Given the description of an element on the screen output the (x, y) to click on. 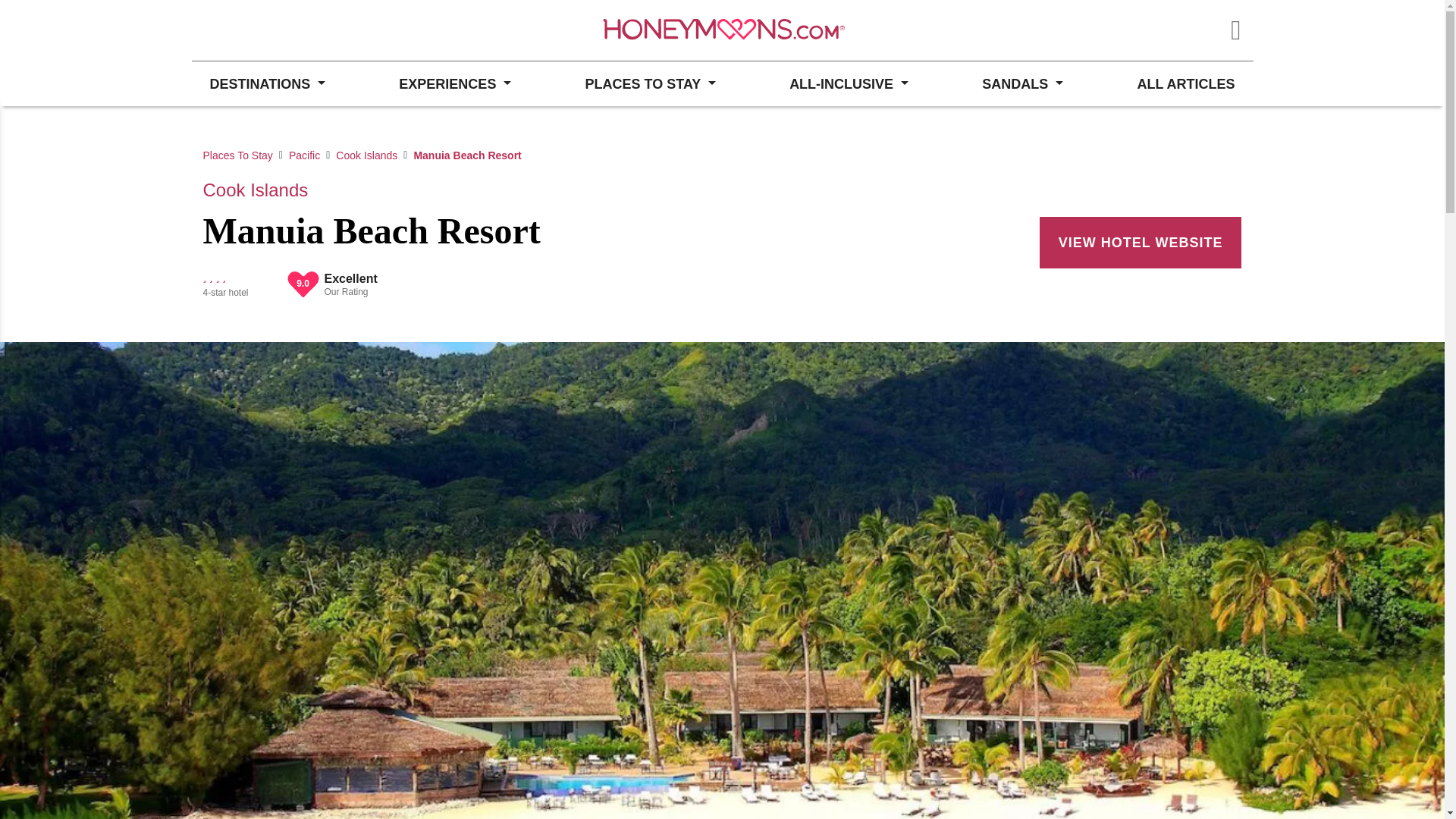
DESTINATIONS (266, 84)
Connect With A Travel Advisor (273, 30)
EXPERIENCES (454, 84)
